Given the description of an element on the screen output the (x, y) to click on. 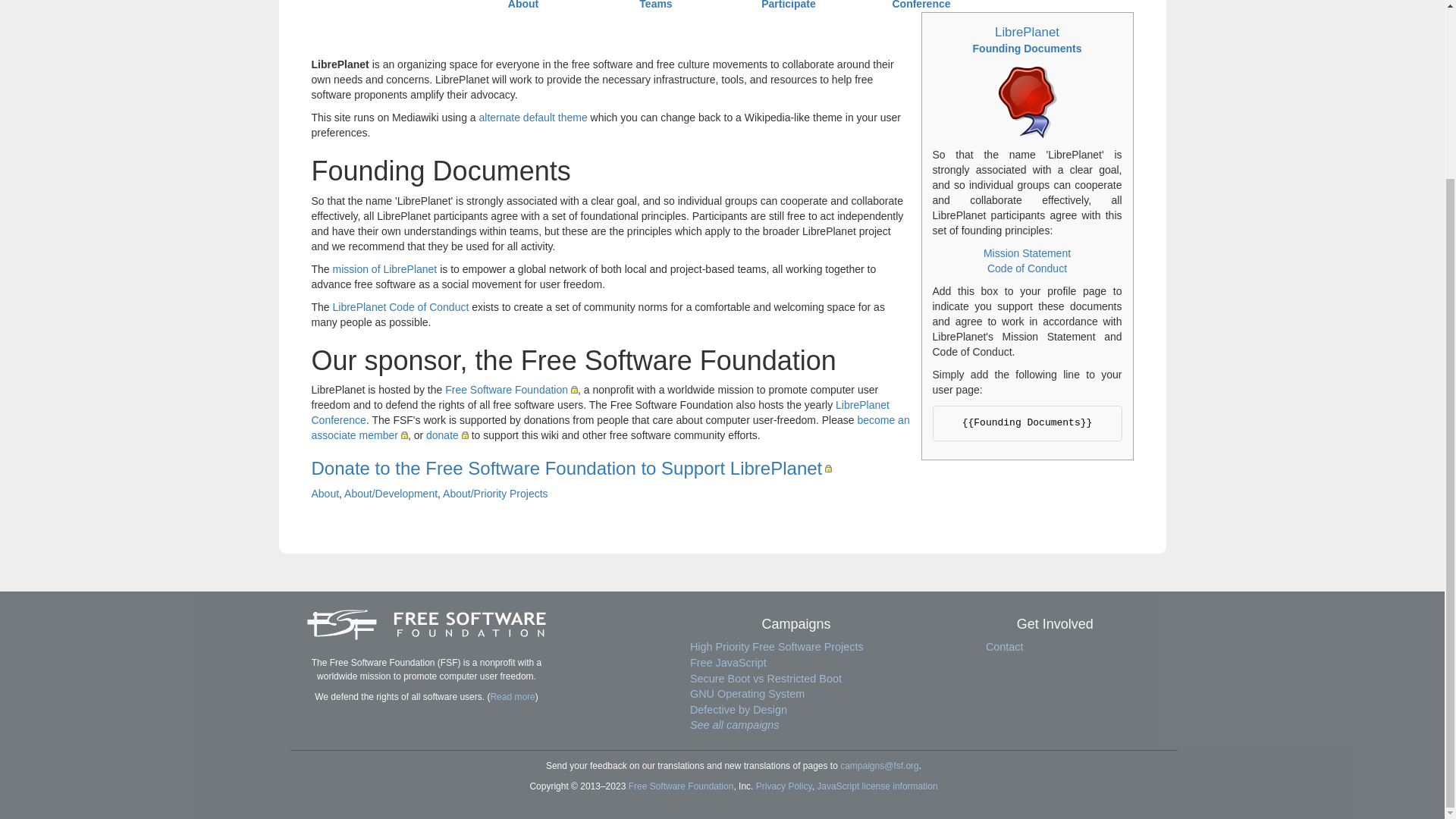
LibrePlanet:Code of Conduct (400, 306)
LibrePlanet:Conference (920, 4)
LibrePlanet:Teams (655, 4)
LibrePlanet:Mission Statement (385, 268)
LibrePlanet:Code of Conduct (1027, 268)
LibrePlanet:Participate (788, 4)
LibrePlanet:Conference (599, 411)
Participate (788, 4)
Libreplanet-theme-mediawiki (533, 117)
About (523, 4)
